Given the description of an element on the screen output the (x, y) to click on. 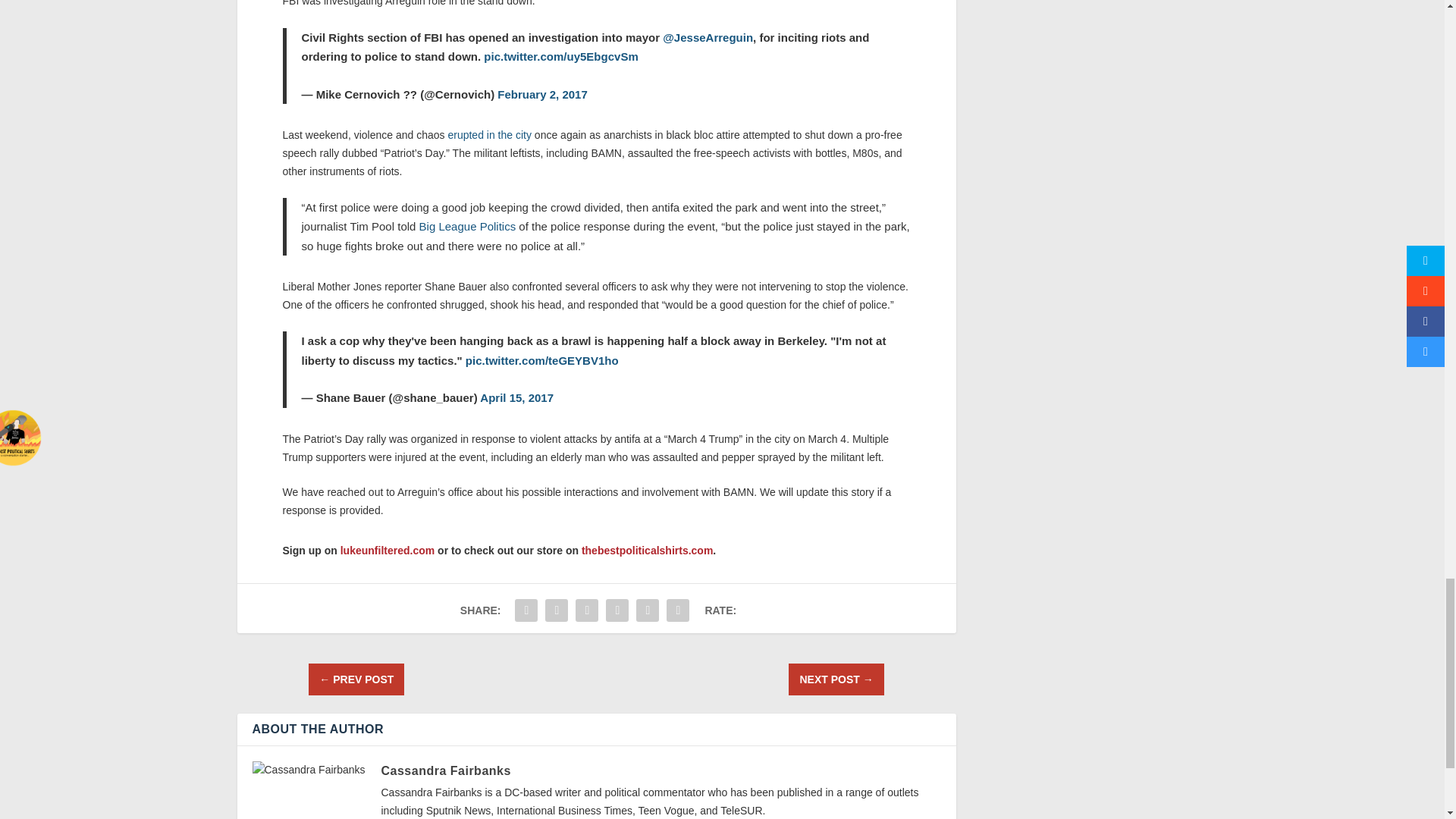
View all posts by Cassandra Fairbanks (445, 770)
